Given the description of an element on the screen output the (x, y) to click on. 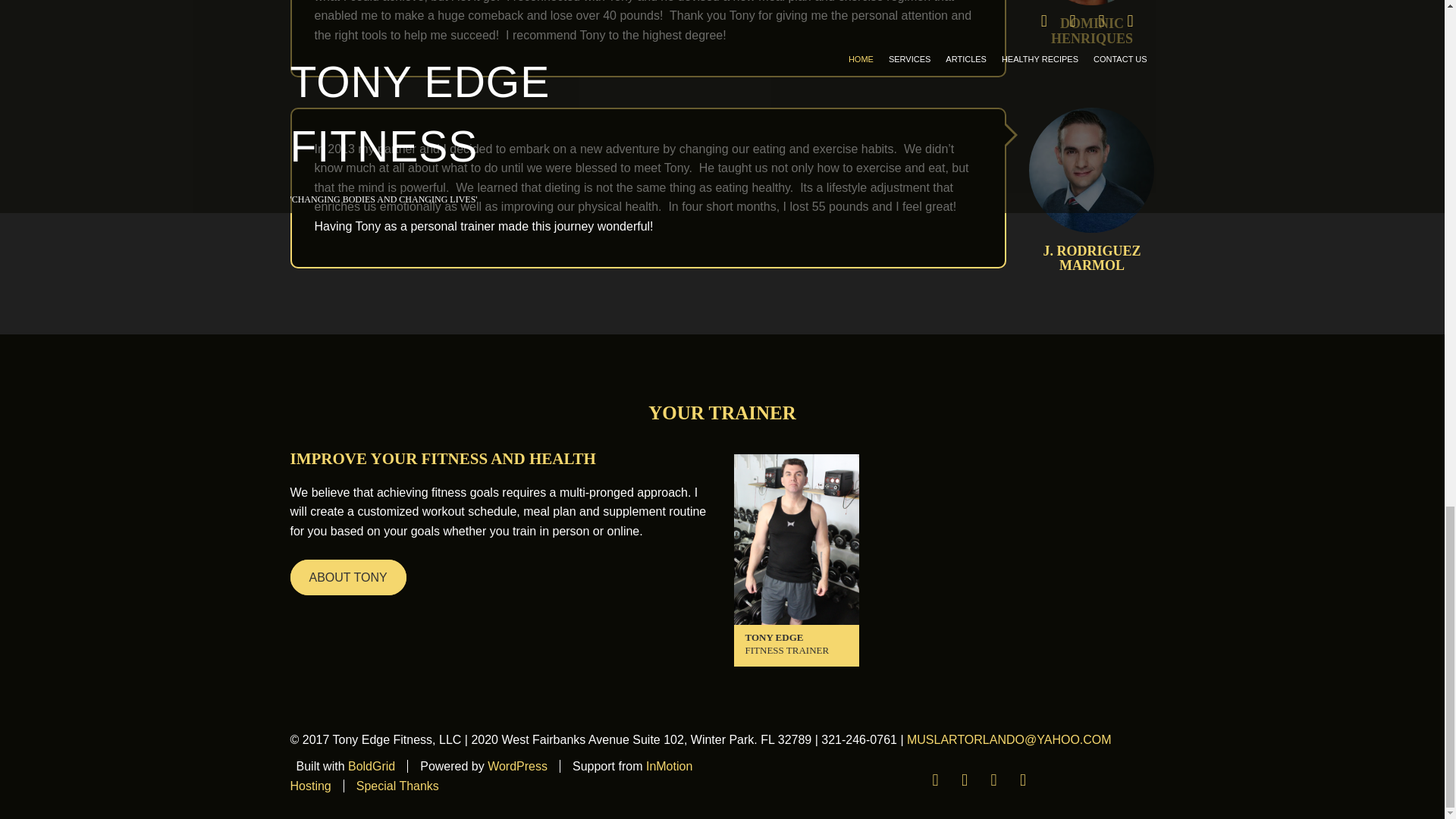
BoldGrid (370, 766)
ABOUT TONY (347, 577)
Special Thanks (397, 785)
WordPress (517, 766)
InMotion Hosting (491, 776)
